Given the description of an element on the screen output the (x, y) to click on. 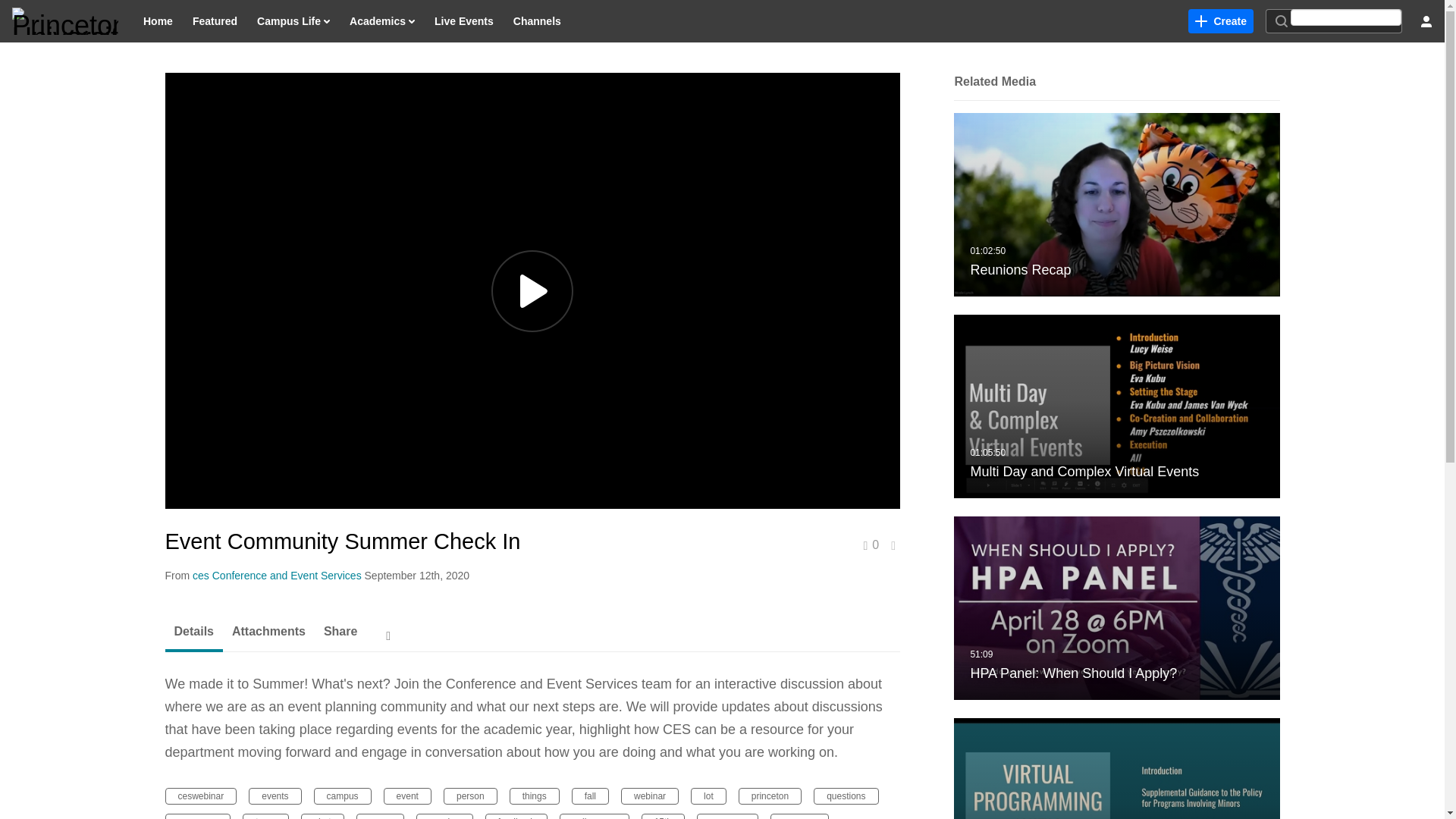
Campus Life (293, 21)
Minors Policy (1116, 768)
Live Events (464, 21)
Featured (215, 21)
Academics (381, 21)
ces Conference and Event Services (276, 575)
Reunions Recap (1116, 204)
Create (1220, 21)
Multi Day and Complex  Virtual Events (1116, 405)
Channels (537, 21)
